Given the description of an element on the screen output the (x, y) to click on. 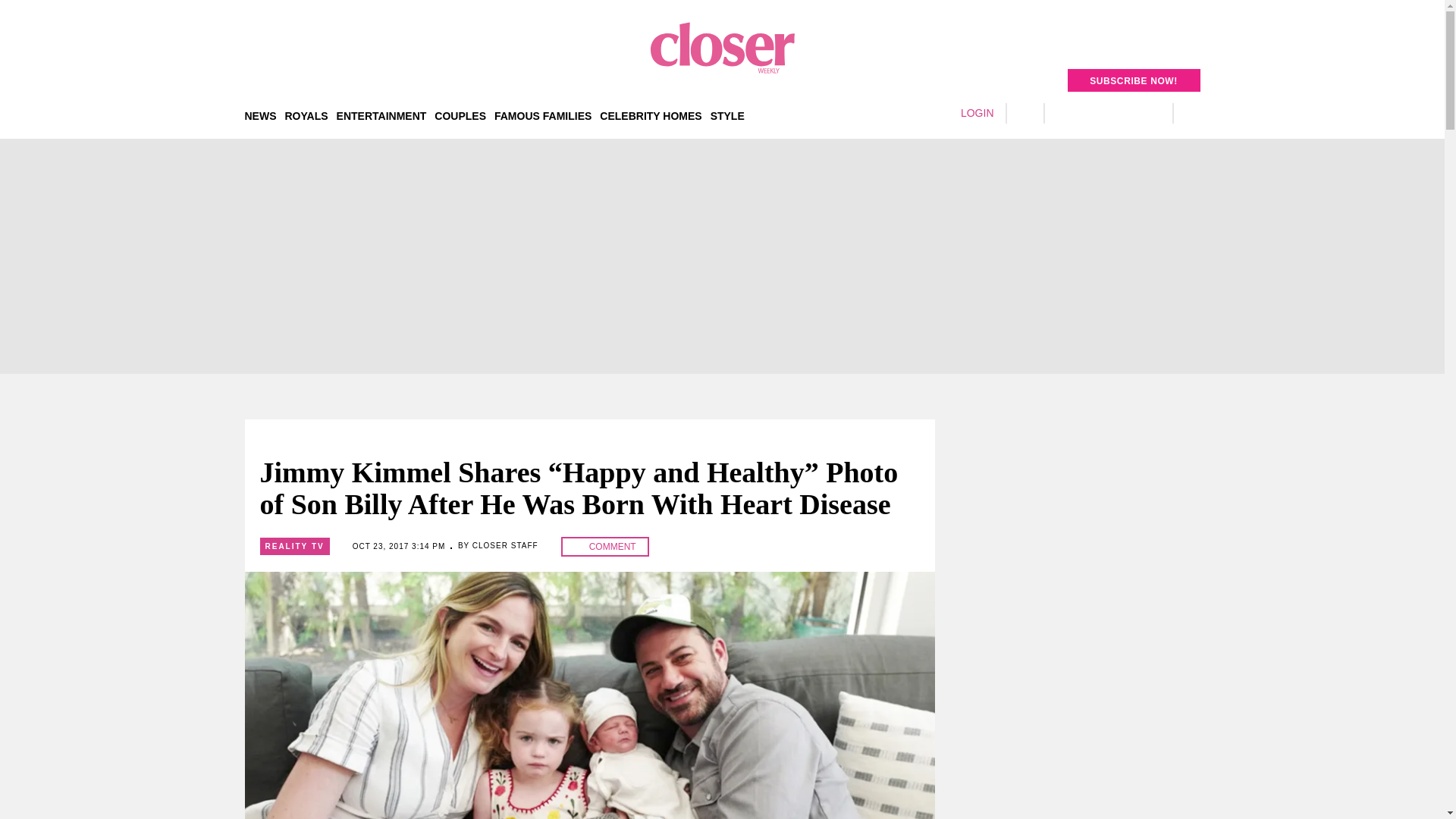
ENTERTAINMENT (381, 115)
ROYALS (307, 115)
Posts by Closer Staff (504, 545)
NEWS (260, 115)
